Given the description of an element on the screen output the (x, y) to click on. 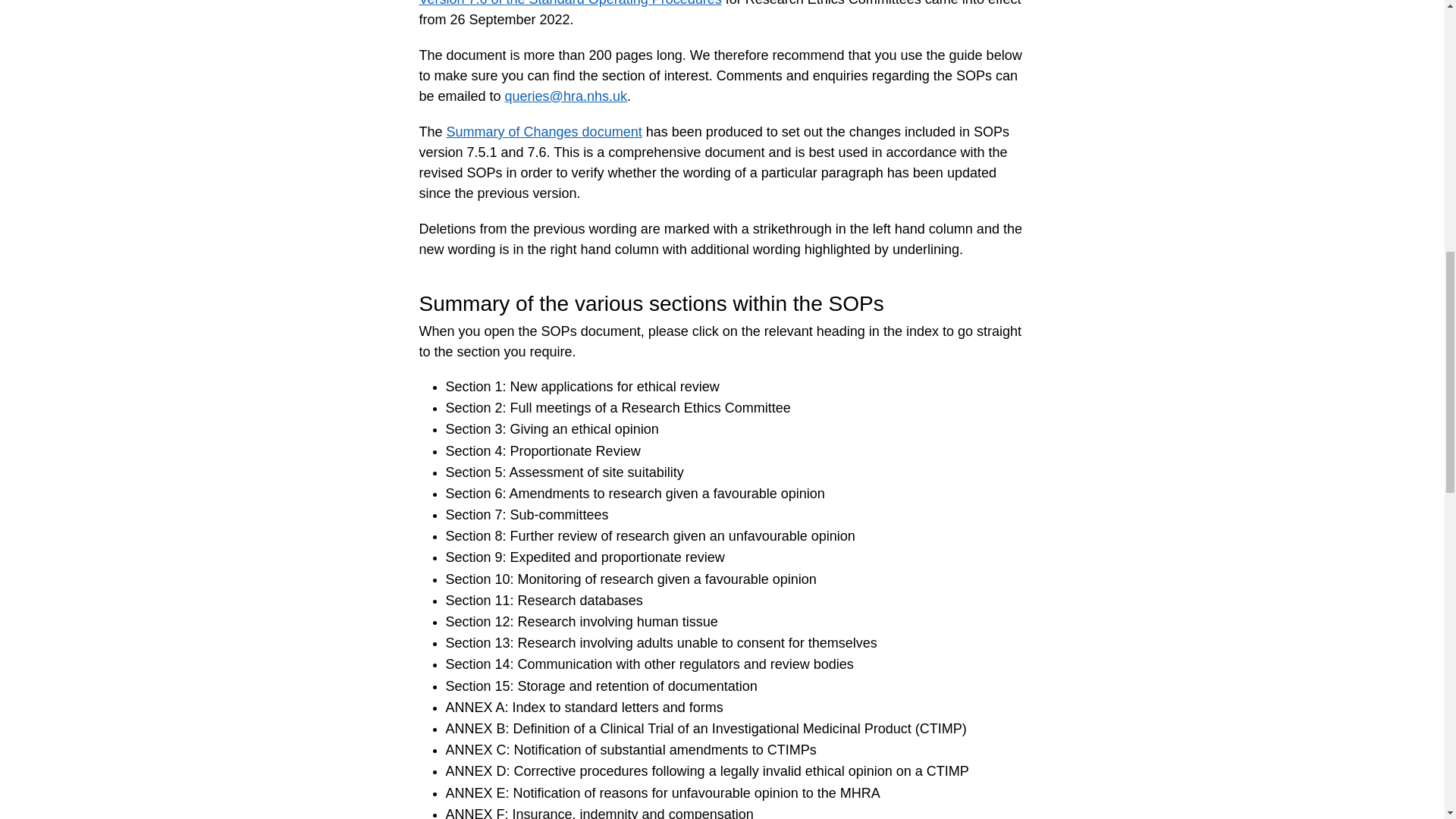
Summary of Changes document (544, 131)
Version 7.6 of the Standard Operating Procedures (569, 3)
